Given the description of an element on the screen output the (x, y) to click on. 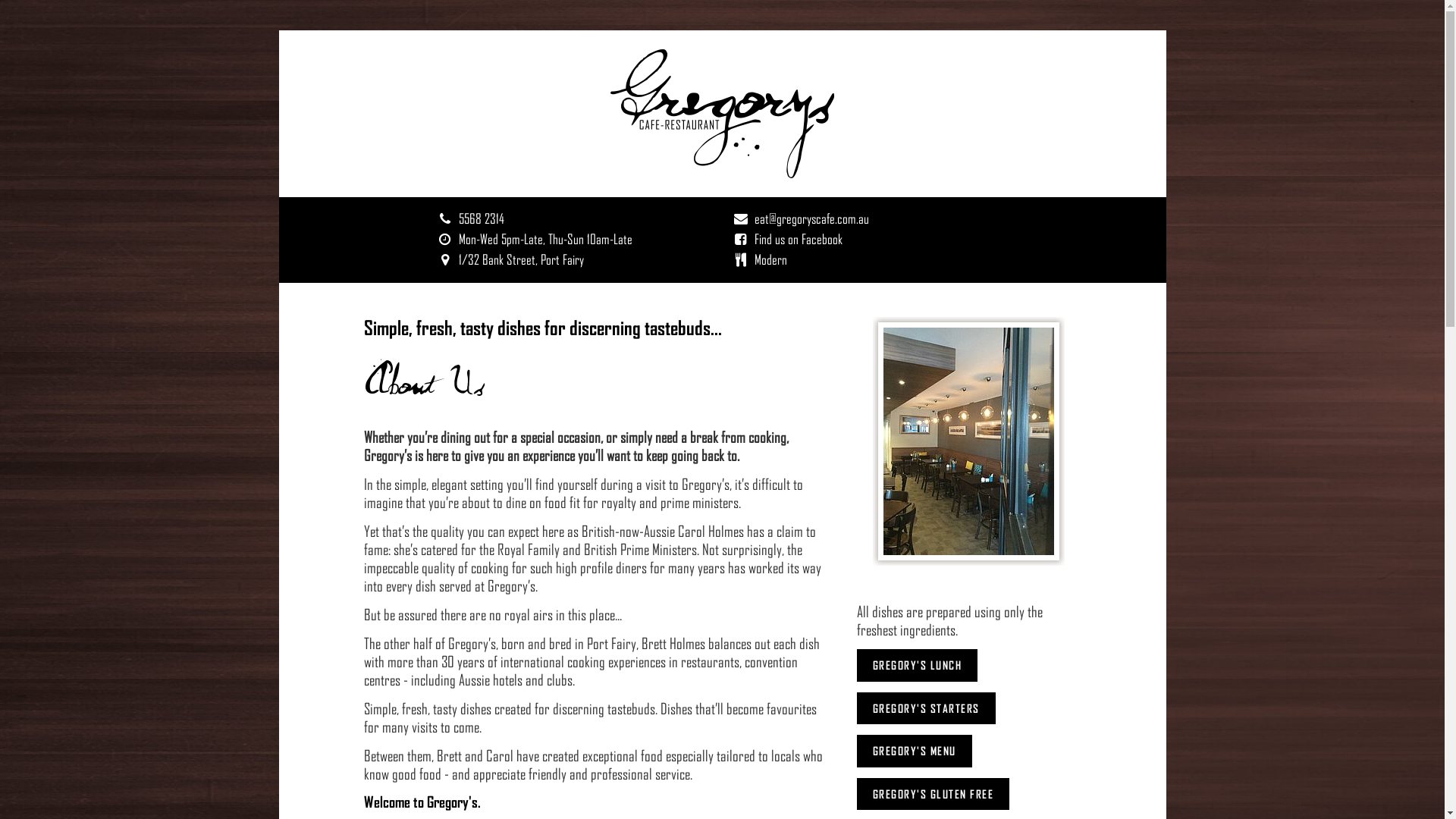
GREGORY'S MENU Element type: text (914, 750)
5568 2314 Element type: text (481, 218)
GREGORY'S GLUTEN FREE Element type: text (933, 794)
1/32 Bank Street, Port Fairy Element type: text (520, 259)
GREGORY'S LUNCH Element type: text (917, 665)
eat@gregoryscafe.com.au Element type: text (811, 218)
GREGORY'S STARTERS Element type: text (925, 707)
Find us on Facebook Element type: text (798, 238)
